Given the description of an element on the screen output the (x, y) to click on. 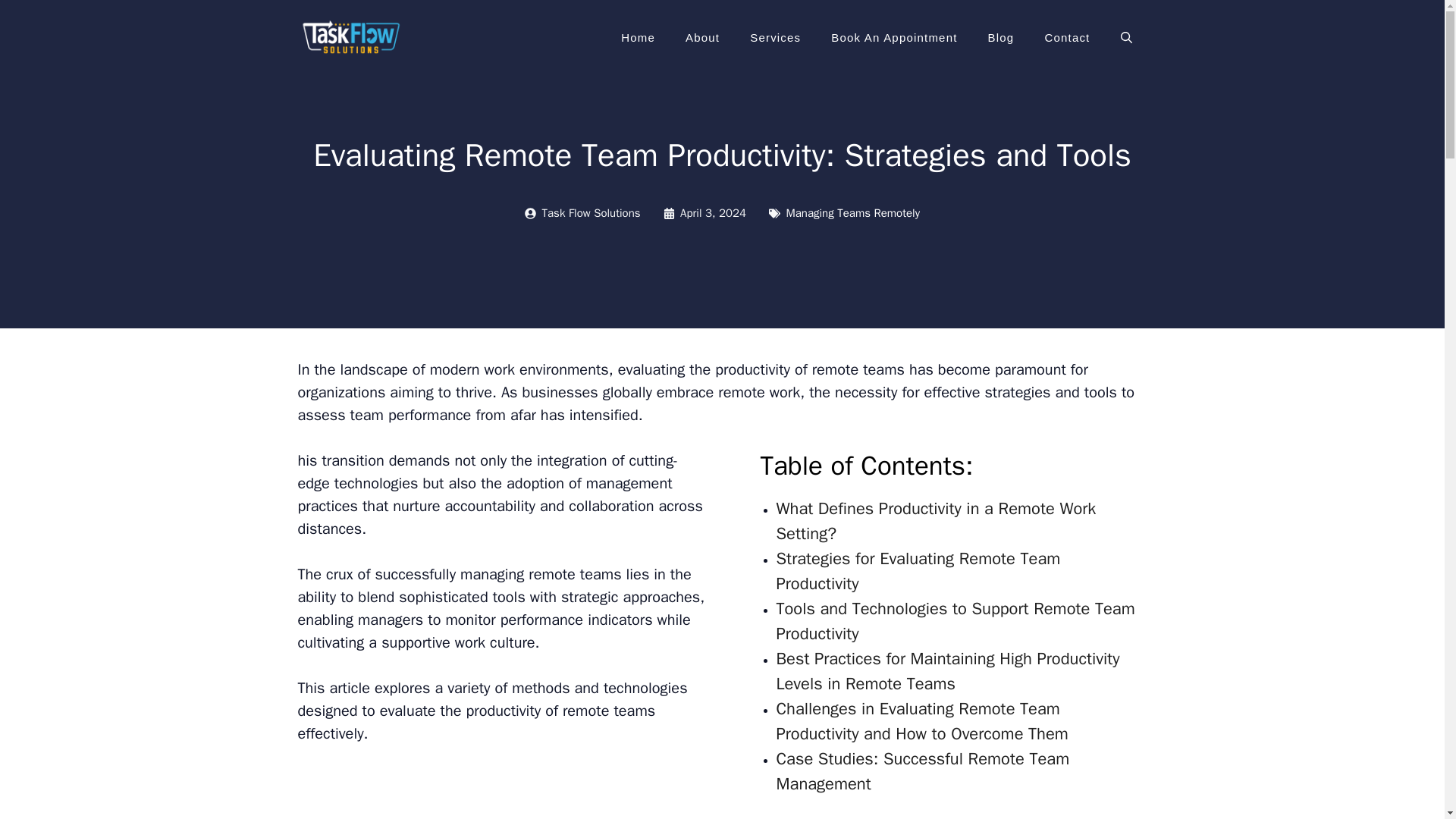
Services (775, 37)
Strategies for Evaluating Remote Team Productivity (918, 572)
Contact (1067, 37)
Blog (1000, 37)
Tools and Technologies to Support Remote Team Productivity (955, 621)
Managing Teams Remotely (852, 213)
What Defines Productivity in a Remote Work Setting? (936, 522)
Home (637, 37)
